Given the description of an element on the screen output the (x, y) to click on. 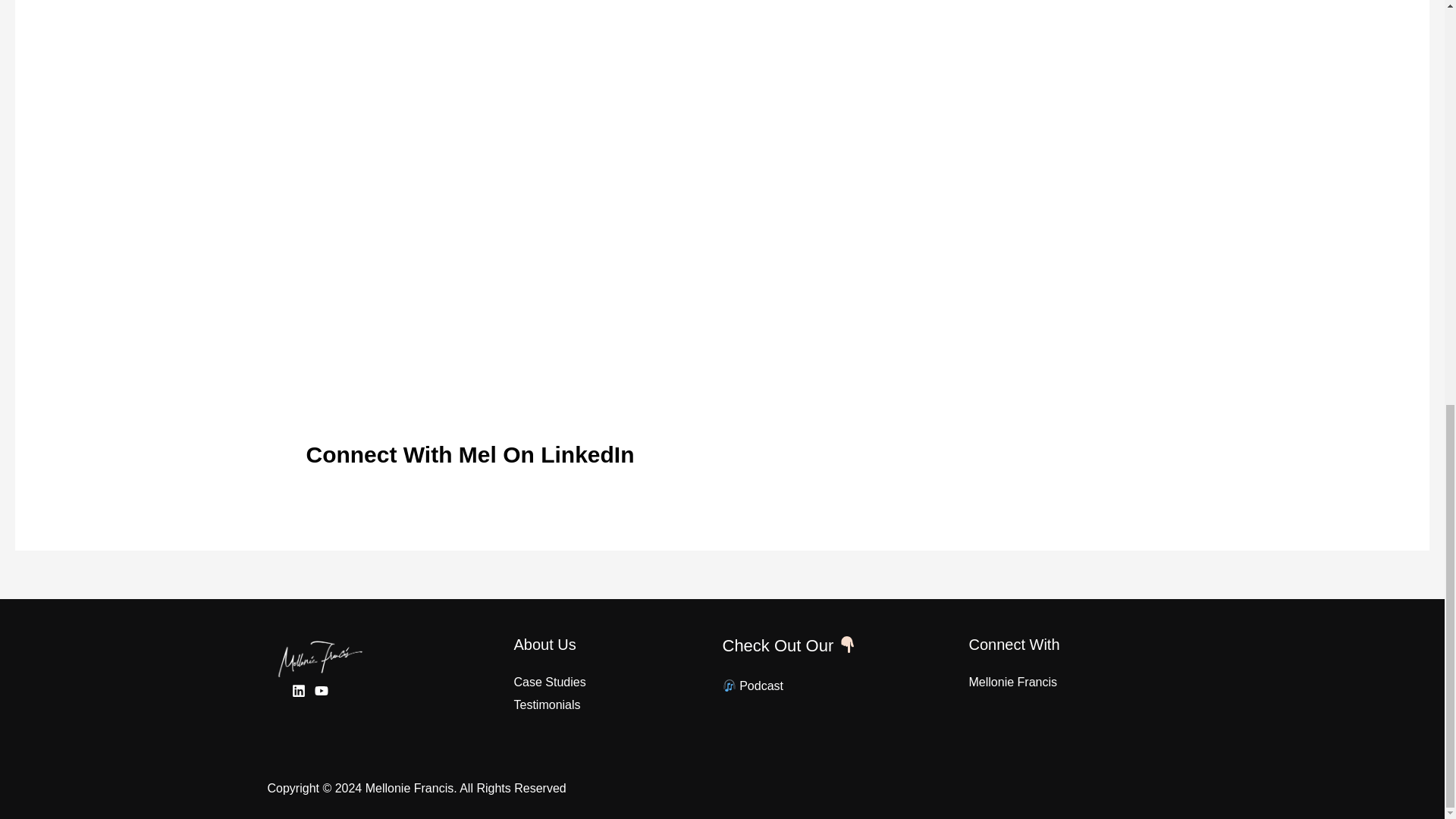
Mellonie Francis (1013, 681)
Connect With Mel On LinkedIn (469, 454)
Testimonials (546, 704)
Case Studies (549, 681)
Podcast (752, 685)
